Given the description of an element on the screen output the (x, y) to click on. 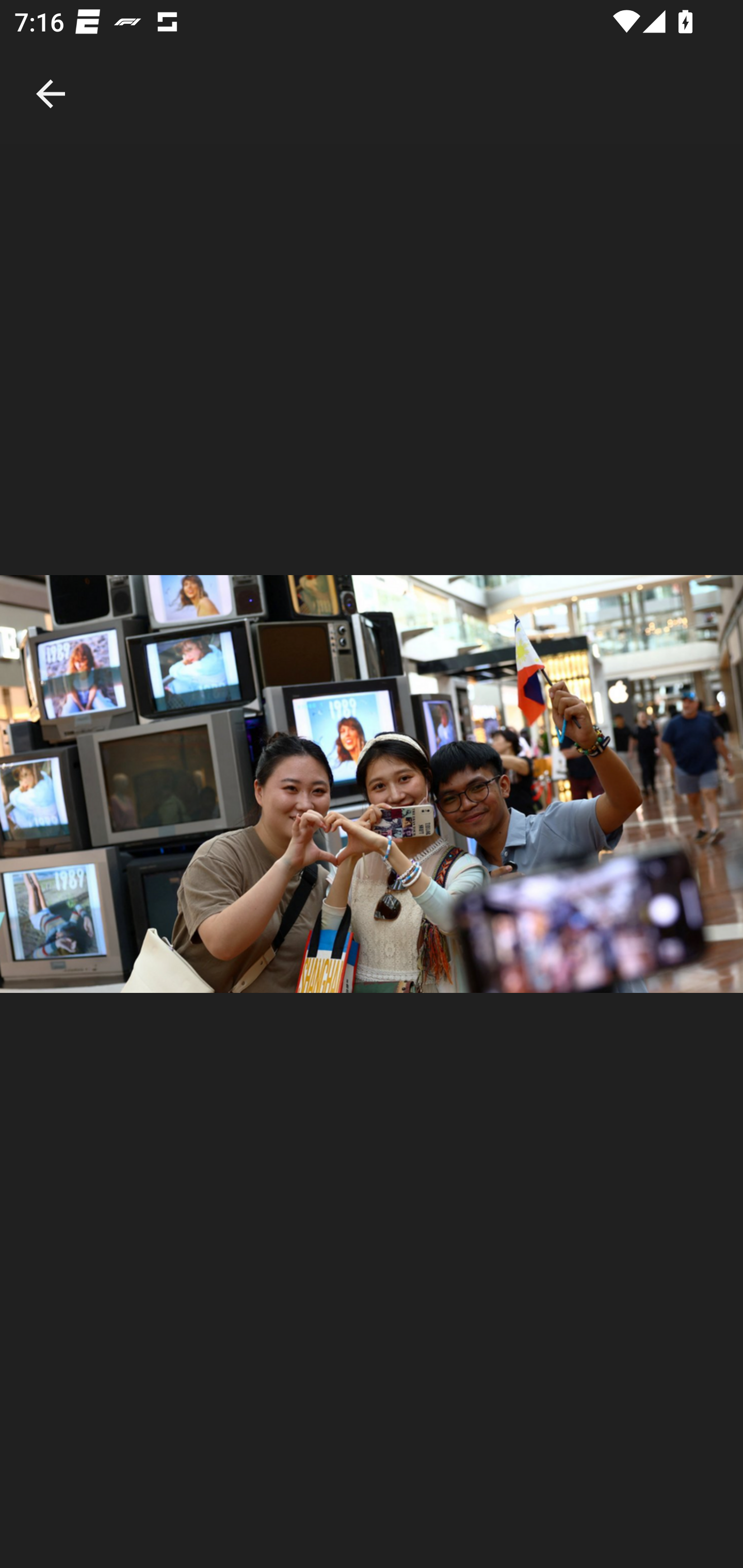
Back (50, 72)
